Given the description of an element on the screen output the (x, y) to click on. 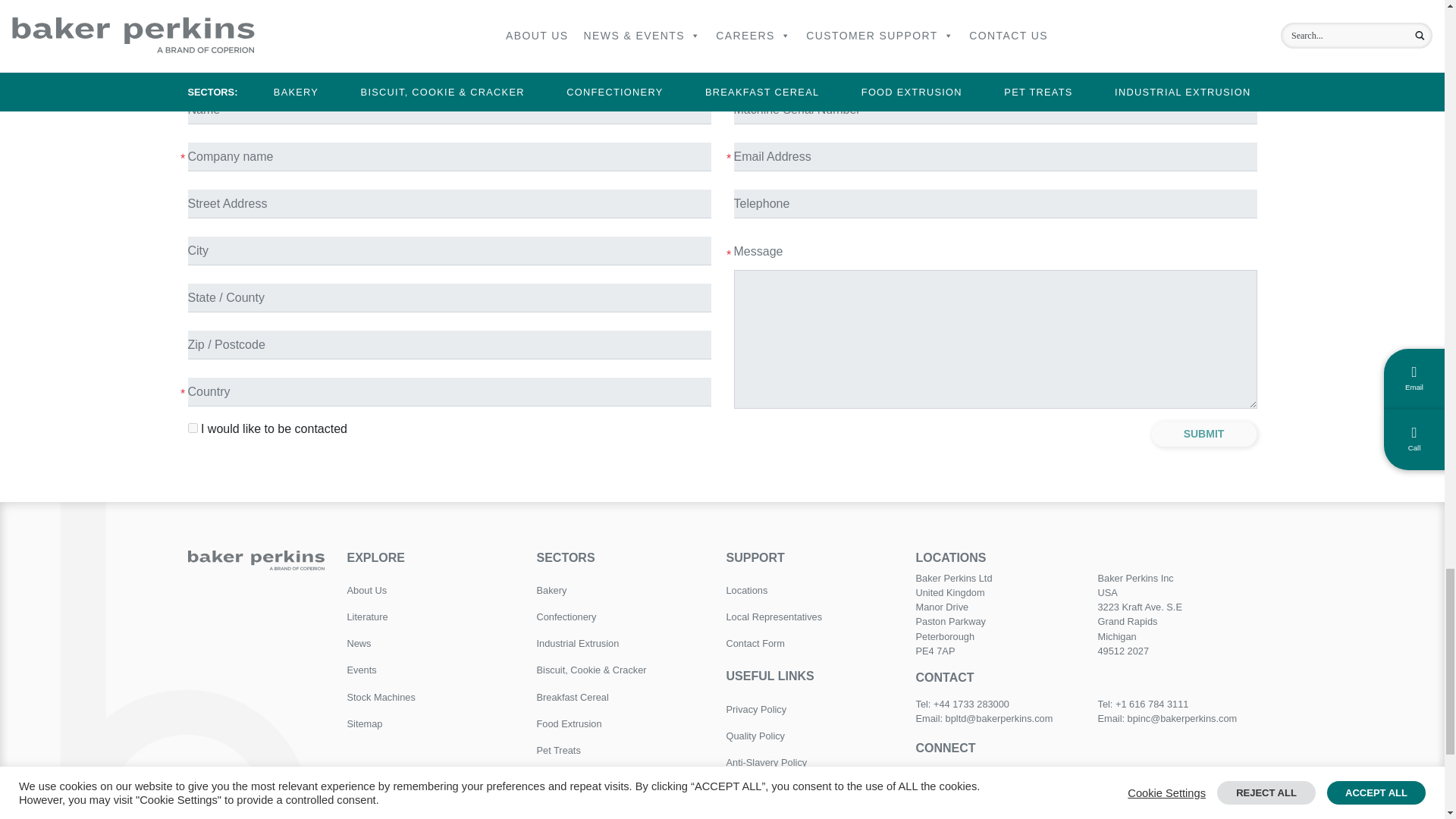
Sitemap (430, 723)
News (430, 642)
Stock Machines (430, 696)
Confectionery (620, 616)
About Us (430, 590)
1 (192, 428)
Submit (1204, 433)
Bakery (620, 590)
Literature (430, 616)
Events (430, 669)
